Given the description of an element on the screen output the (x, y) to click on. 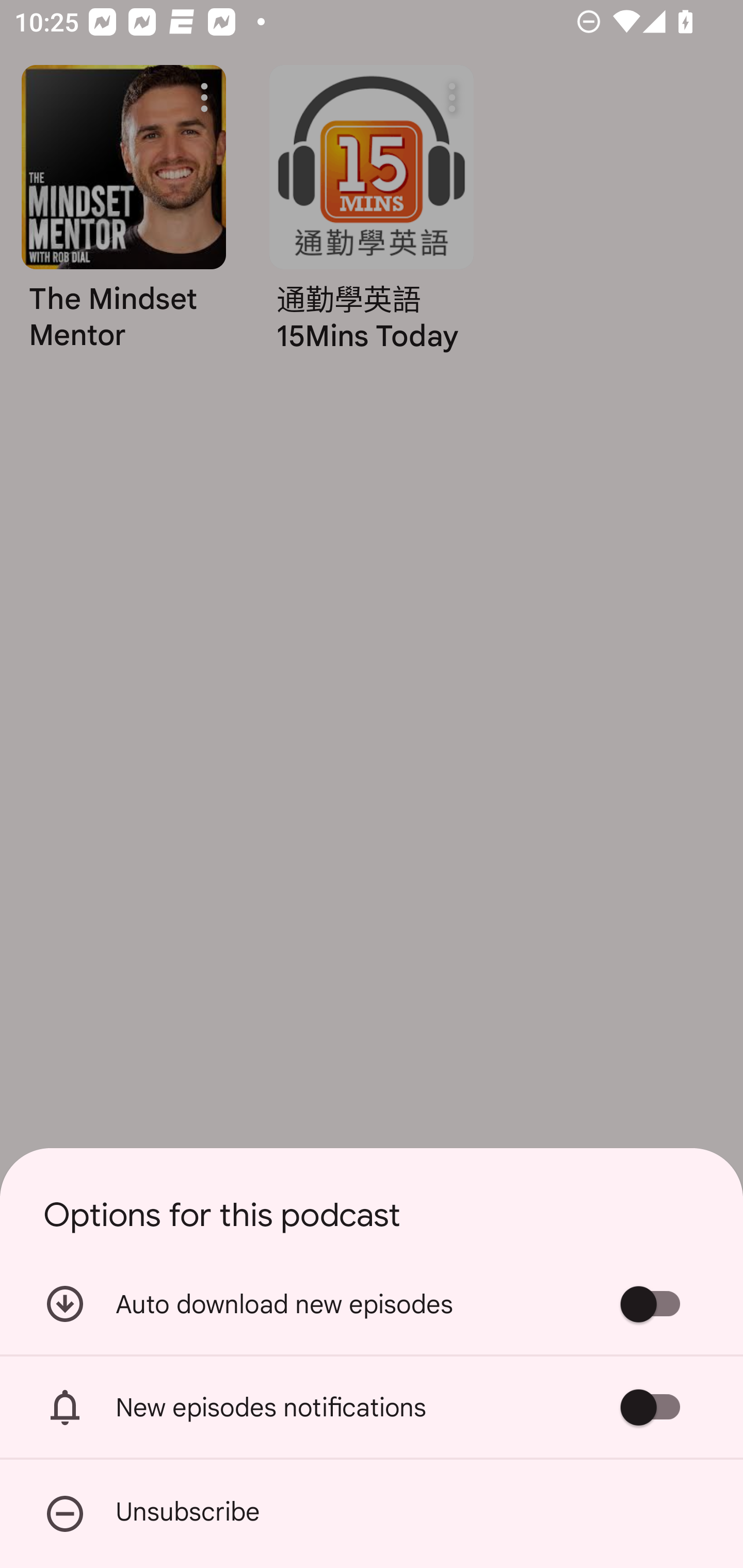
Auto download new episodes (371, 1303)
New episodes notifications (371, 1407)
Unsubscribe (371, 1513)
